Given the description of an element on the screen output the (x, y) to click on. 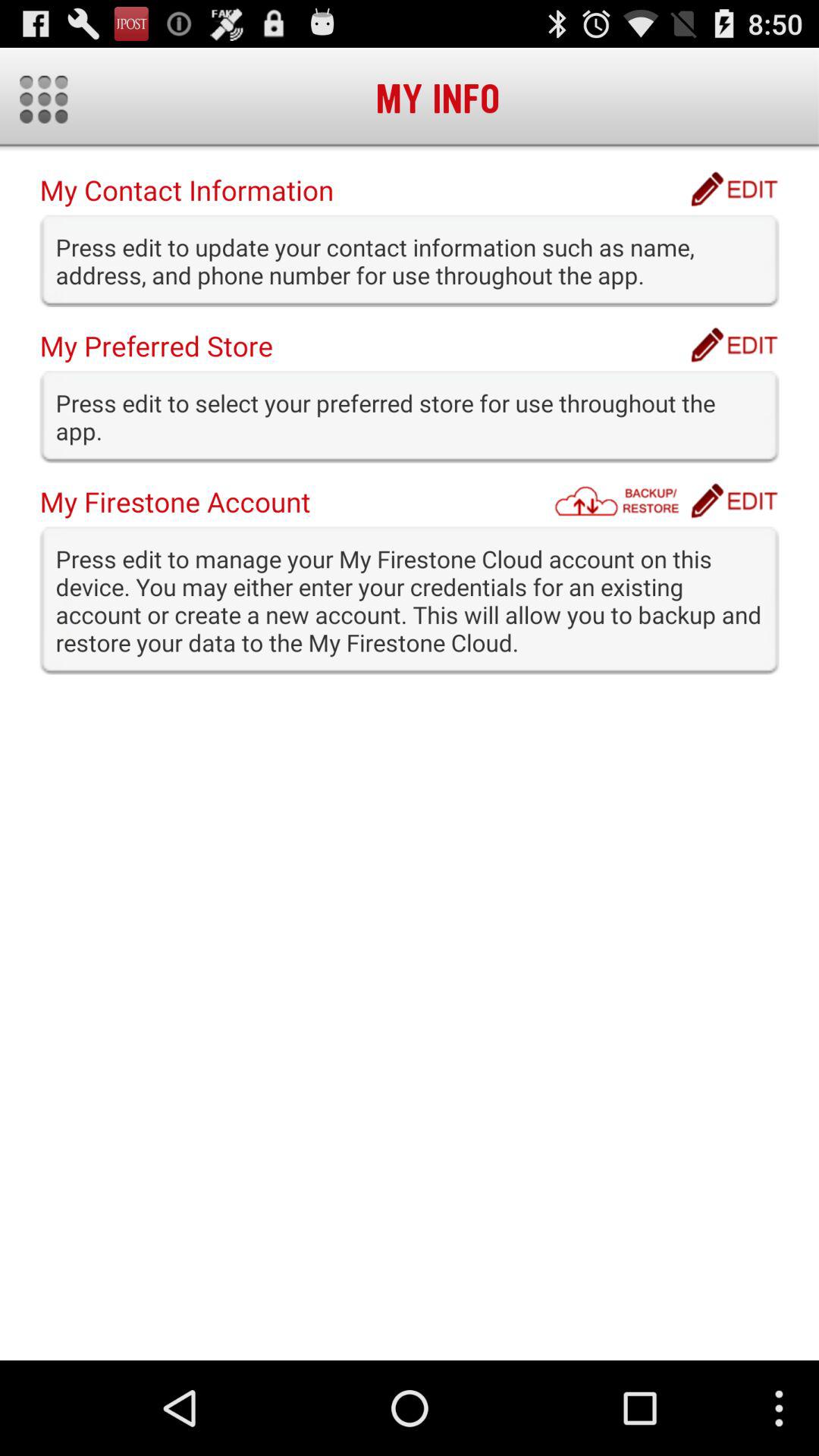
open the icon above the press edit to item (621, 500)
